Given the description of an element on the screen output the (x, y) to click on. 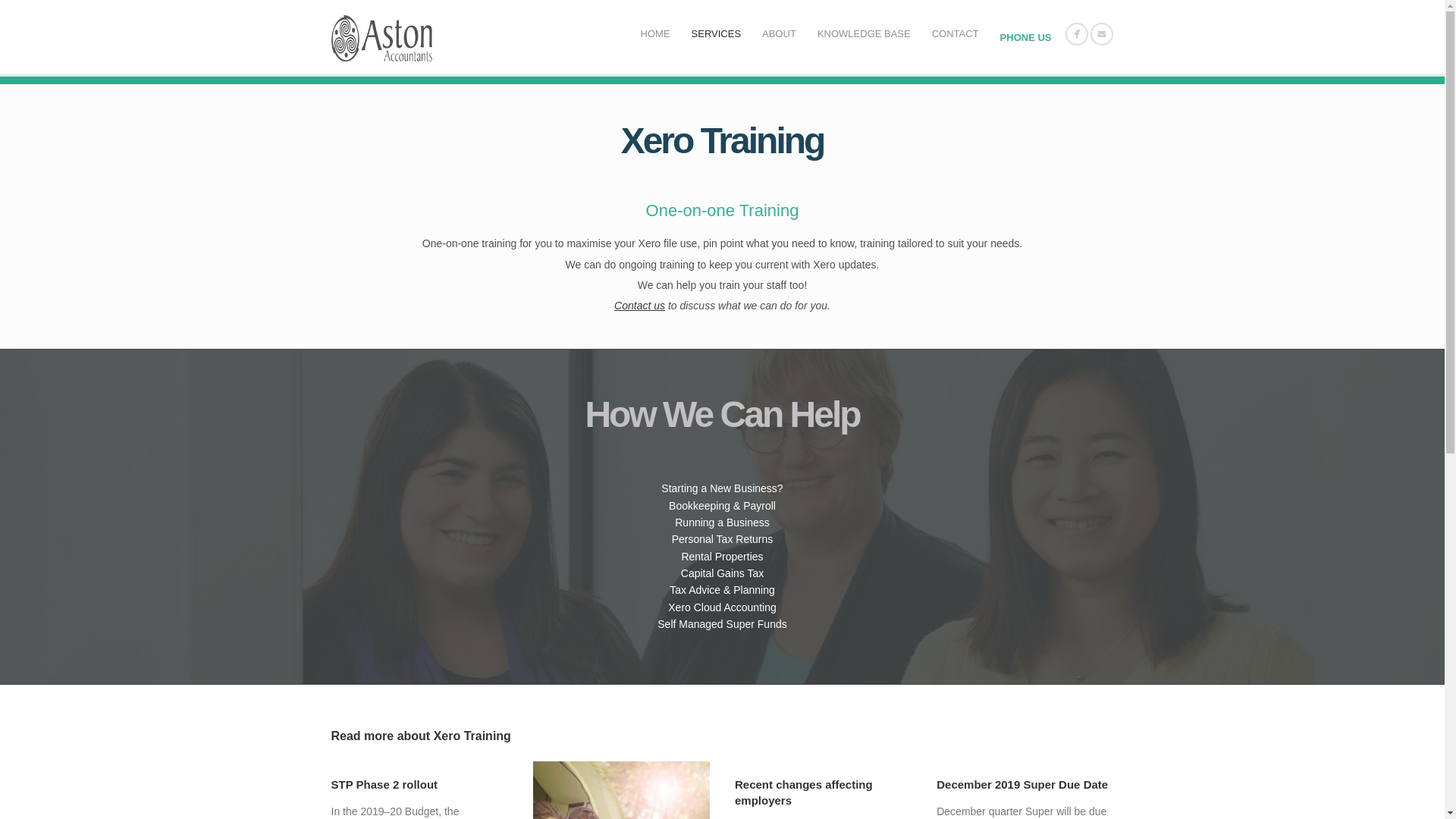
Rental Properties (721, 556)
ABOUT (778, 34)
Email Aston Accountants (1100, 33)
Self Managed Super Funds (722, 623)
KNOWLEDGE BASE (863, 34)
HOME (655, 34)
SERVICES (716, 34)
Personal Tax Returns (722, 539)
CONTACT (955, 34)
Xero Cloud Accounting (722, 607)
